Given the description of an element on the screen output the (x, y) to click on. 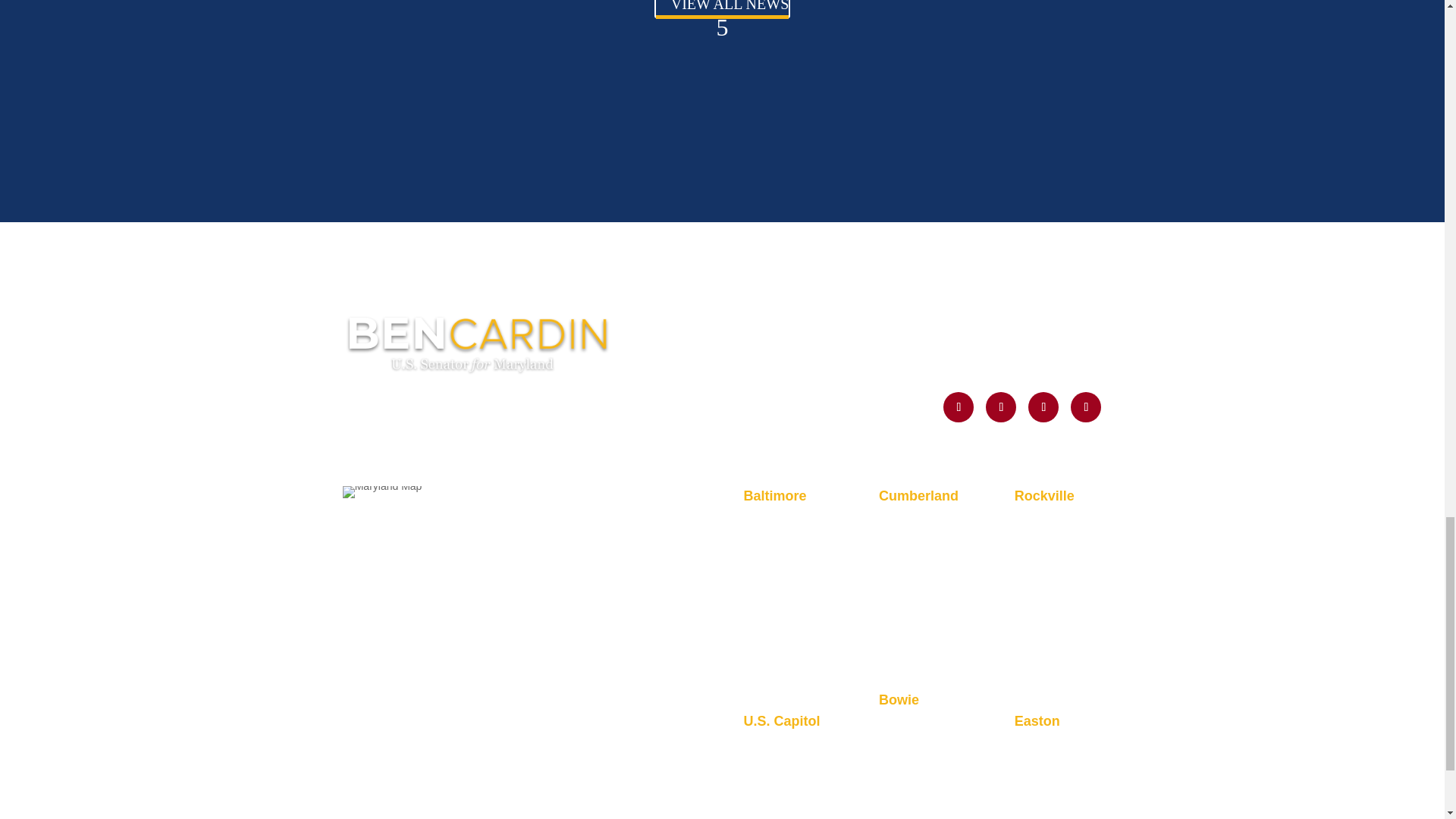
Follow on Facebook (1085, 407)
Follow on Youtube (1042, 407)
Footer (478, 342)
Privacy Policy (384, 527)
Follow on X (958, 407)
Follow on Instagram (1000, 407)
